Given the description of an element on the screen output the (x, y) to click on. 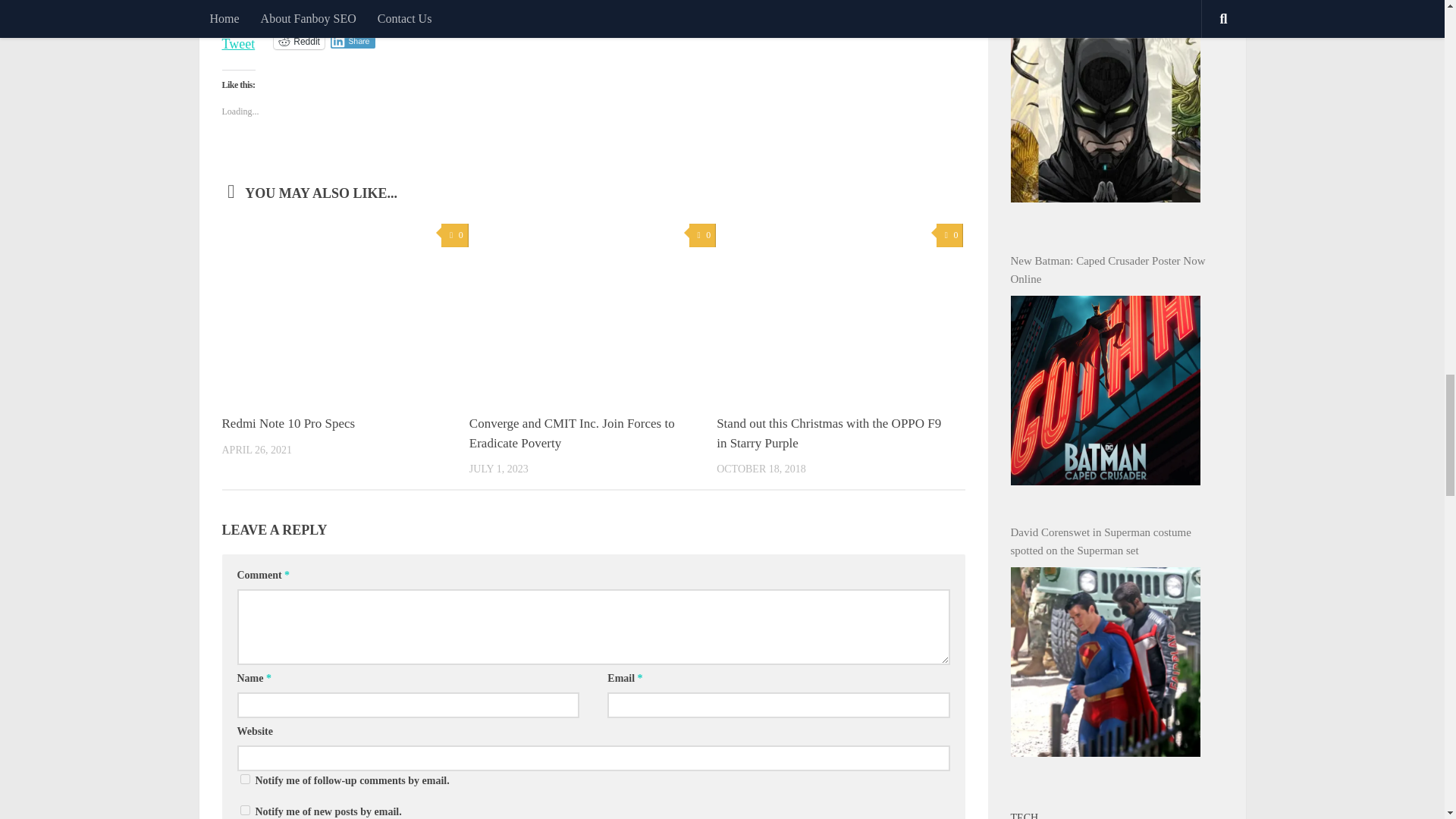
Click to share on Reddit (298, 41)
subscribe (244, 809)
Tweet (237, 39)
subscribe (244, 778)
Share (352, 40)
Reddit (298, 41)
